Given the description of an element on the screen output the (x, y) to click on. 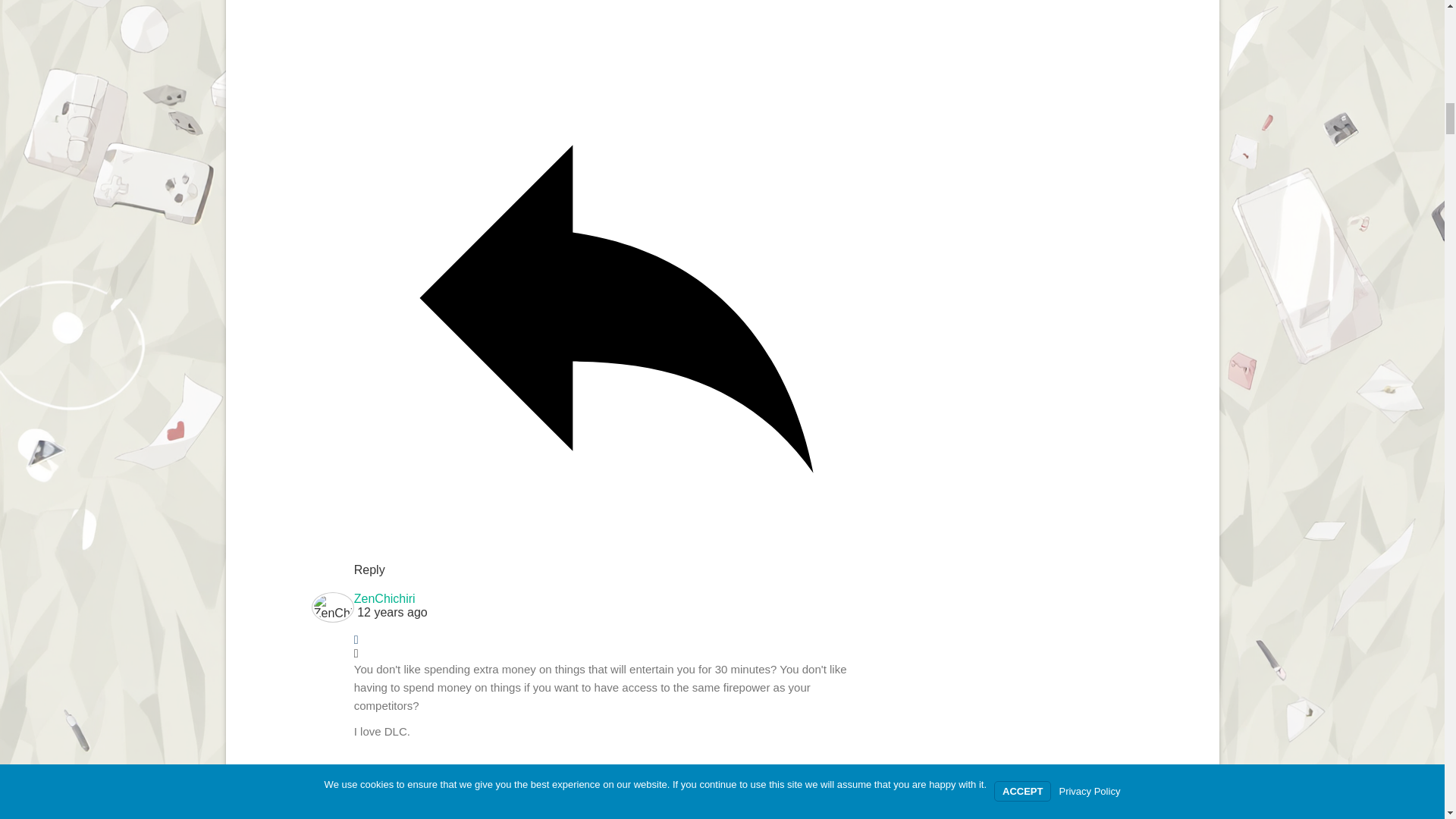
June 27, 2012 12:00 am (616, 612)
